Given the description of an element on the screen output the (x, y) to click on. 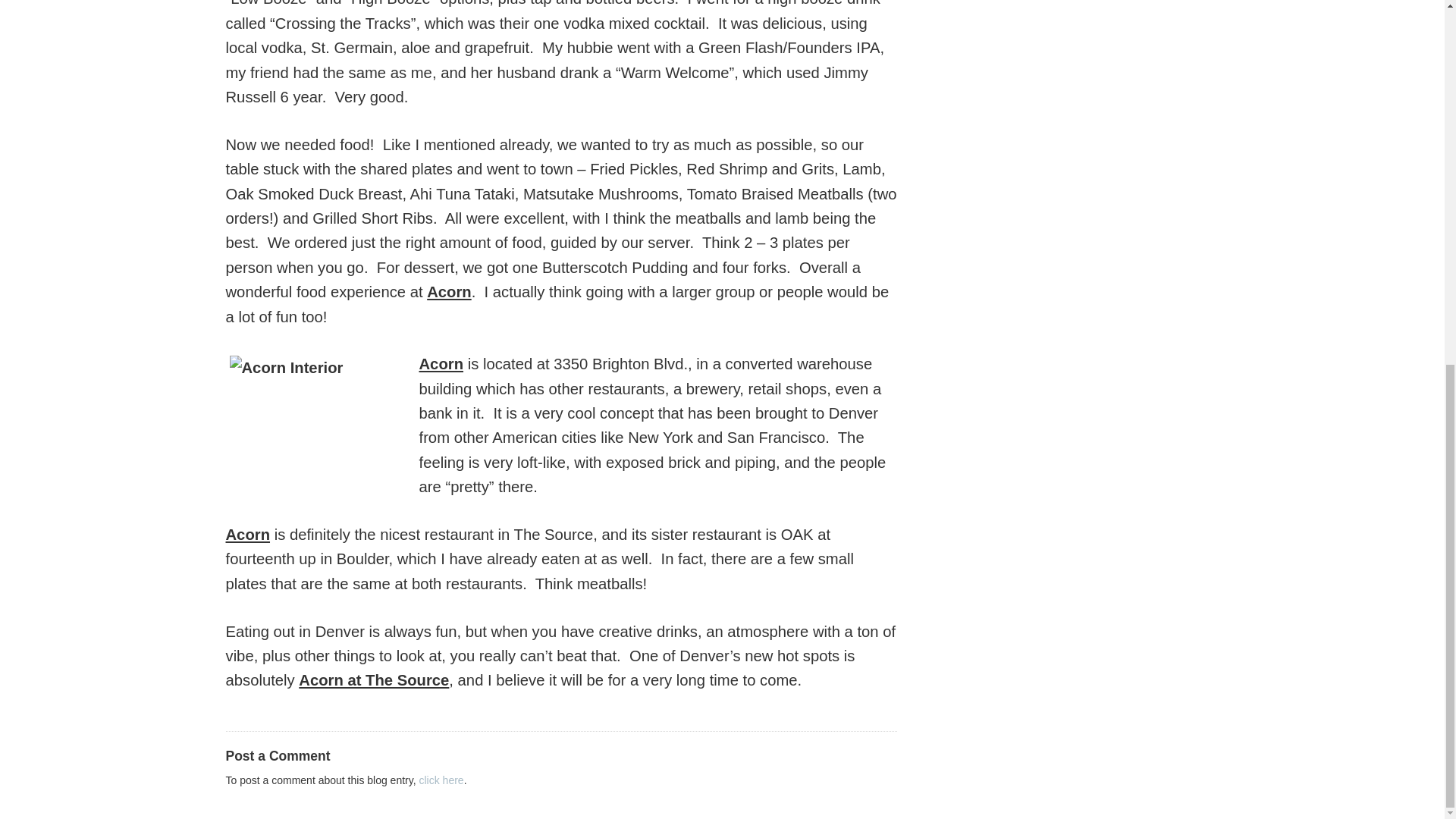
Inside Acorn Restaurant Denver (321, 417)
